Given the description of an element on the screen output the (x, y) to click on. 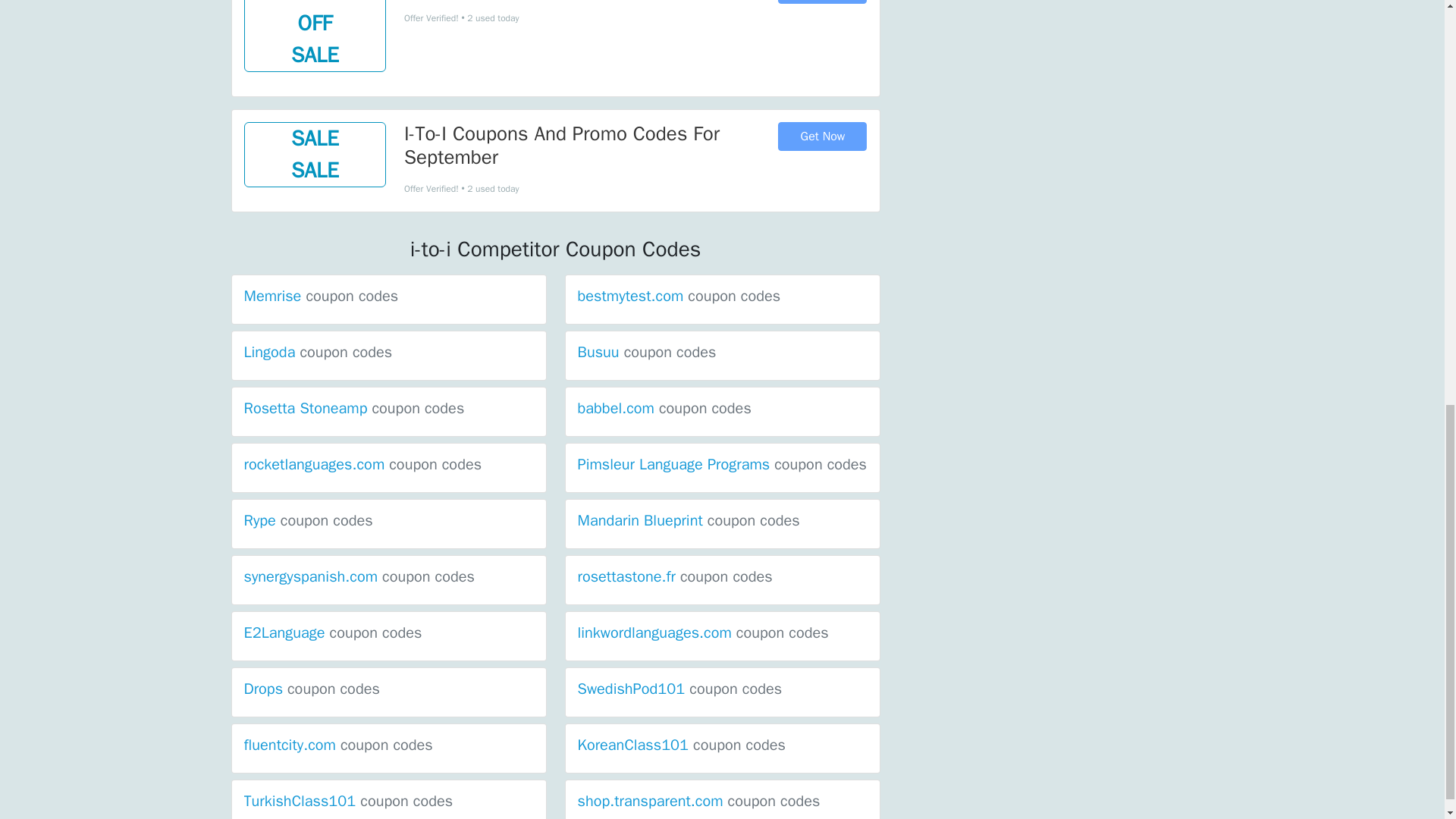
babbel.com coupon codes (664, 407)
Mandarin Blueprint coupon codes (688, 520)
Busuu coupon codes (647, 352)
rocketlanguages.com coupon codes (362, 464)
bestmytest.com coupon codes (679, 295)
Lingoda coupon codes (318, 352)
linkwordlanguages.com coupon codes (703, 632)
Rype coupon codes (308, 520)
fluentcity.com coupon codes (338, 744)
Rosetta Stoneamp coupon codes (354, 407)
Lingoda coupon codes (318, 352)
Pimsleur Language Programs coupon codes (722, 464)
fluentcity.com coupon codes (338, 744)
KoreanClass101 coupon codes (682, 744)
rocketlanguages.com coupon codes (362, 464)
